Given the description of an element on the screen output the (x, y) to click on. 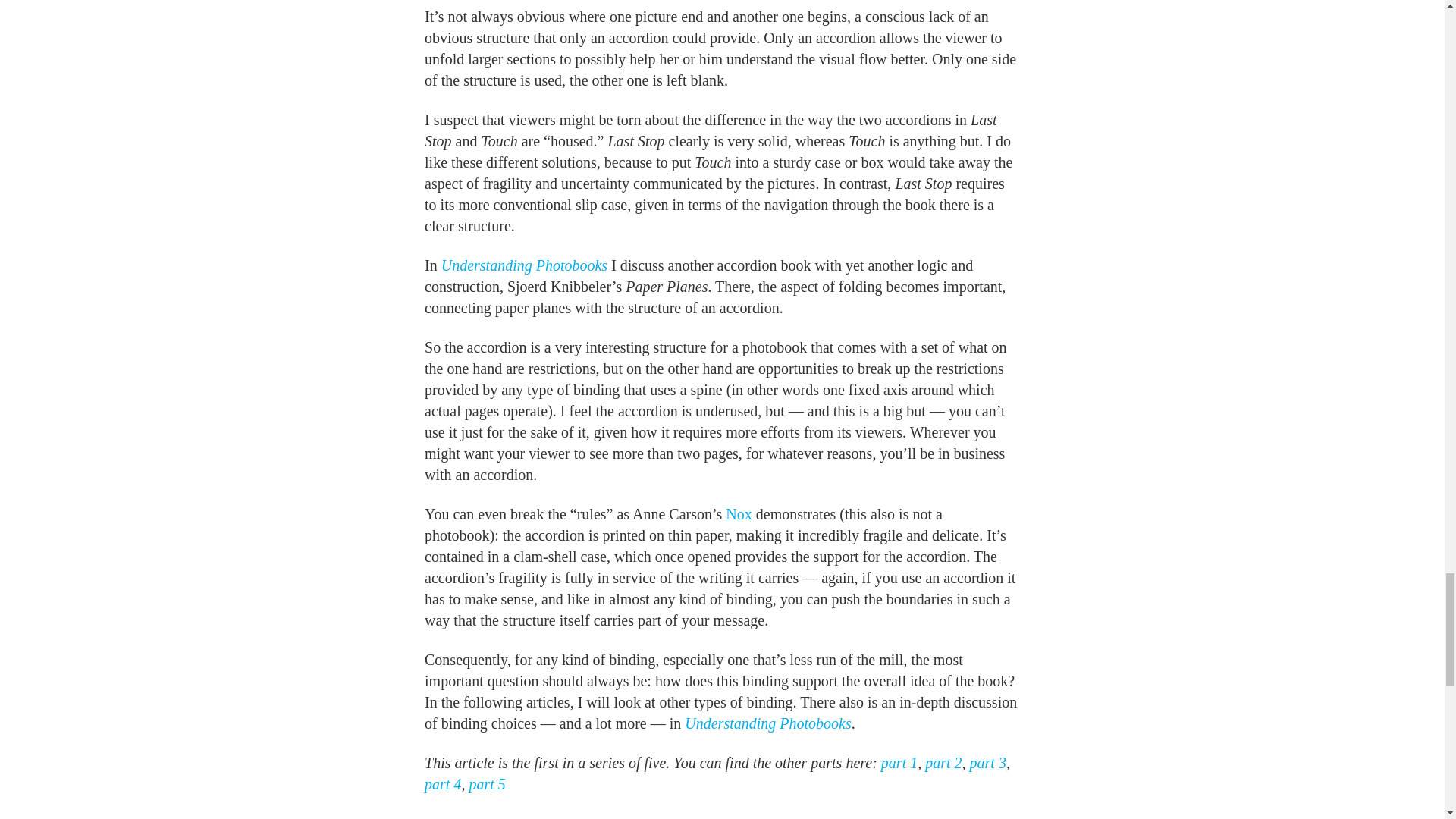
part 1 (898, 762)
Nox (738, 514)
part 4 (443, 783)
Understanding Photobooks (767, 723)
part 5 (486, 783)
Understanding Photobooks (524, 265)
part 2 (942, 762)
part 3 (987, 762)
